Given the description of an element on the screen output the (x, y) to click on. 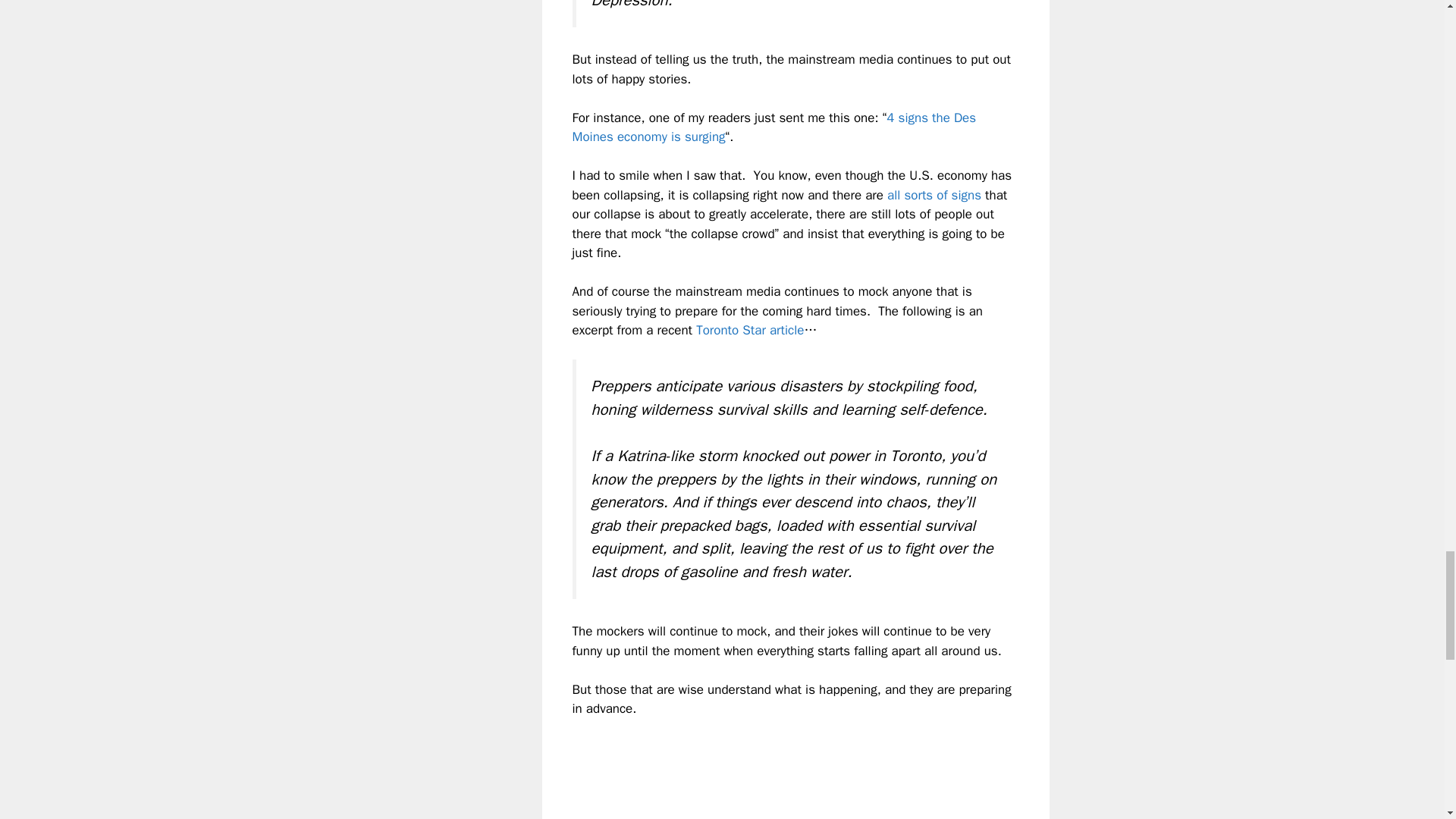
4 signs the Des Moines economy is surging (773, 127)
all sorts of signs (933, 195)
Toronto Star article (749, 330)
